Given the description of an element on the screen output the (x, y) to click on. 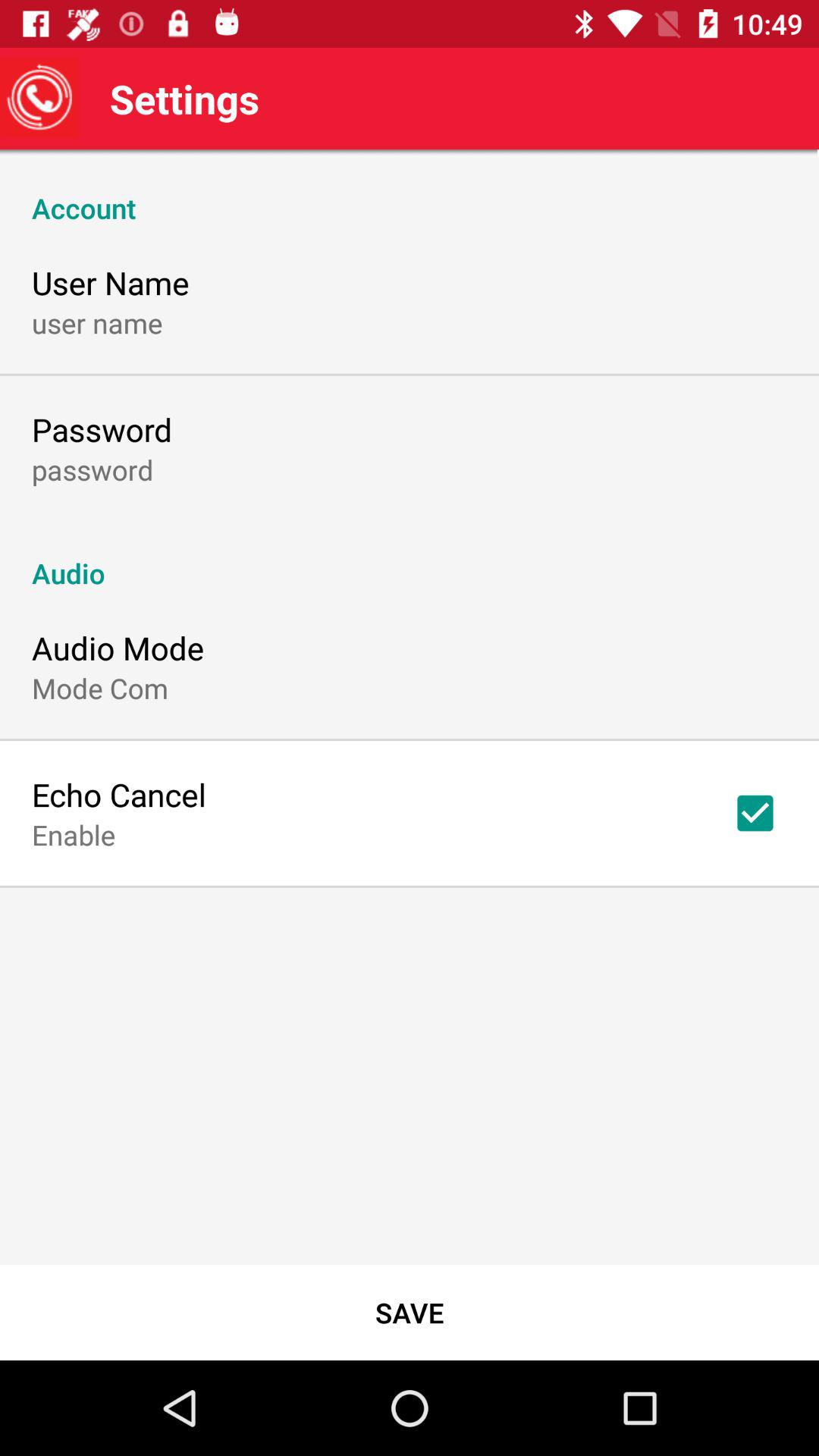
click icon above user name item (409, 191)
